Given the description of an element on the screen output the (x, y) to click on. 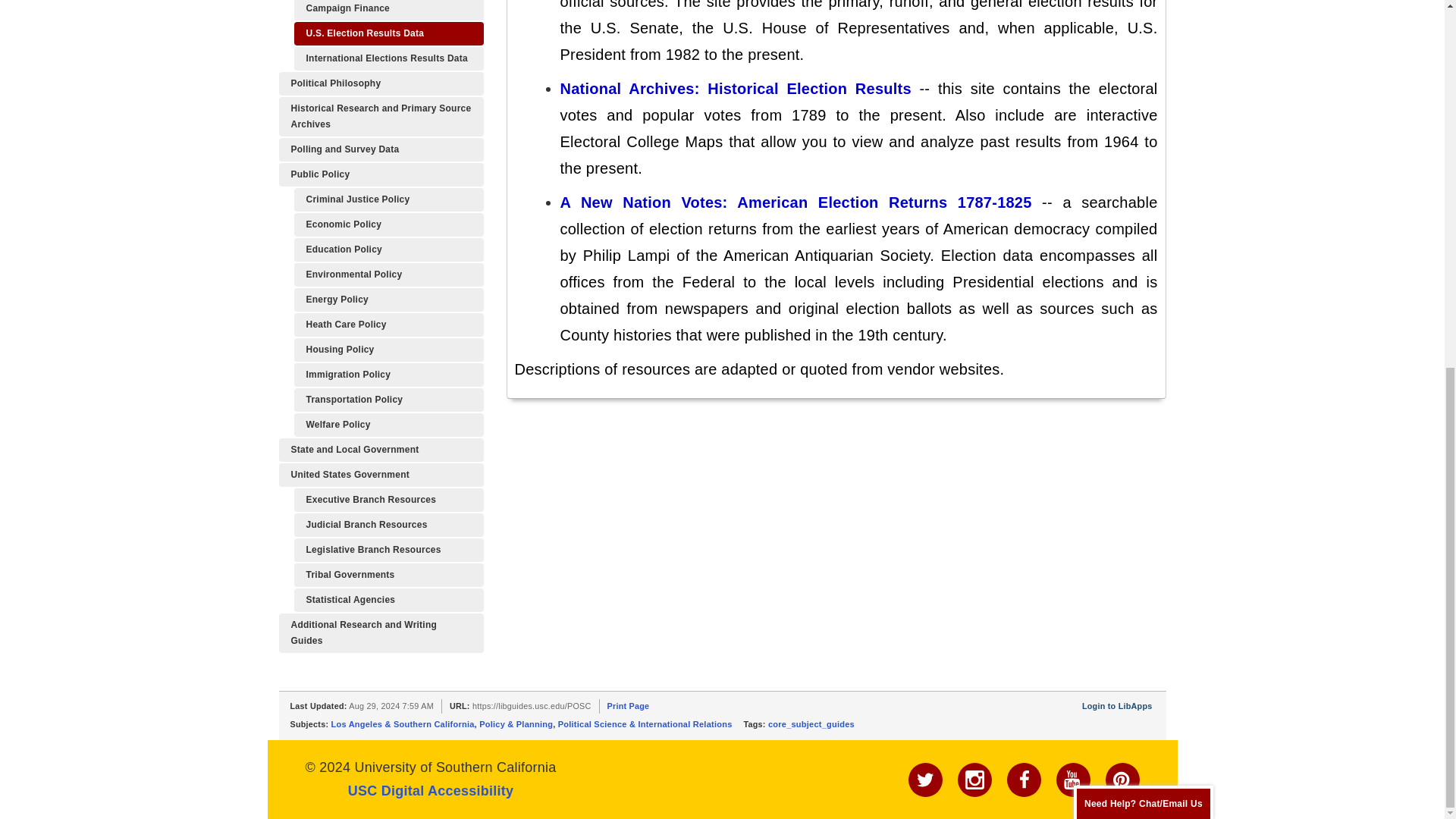
International Elections Results Data (388, 58)
Economic Policy (388, 224)
Public Policy (381, 174)
Criminal Justice Policy (388, 199)
Heath Care Policy (388, 324)
Education Policy (388, 249)
Political Philosophy (381, 83)
Polling and Survey Data (381, 149)
U.S. Election Results Data (388, 33)
Historical Research and Primary Source Archives (381, 116)
